Given the description of an element on the screen output the (x, y) to click on. 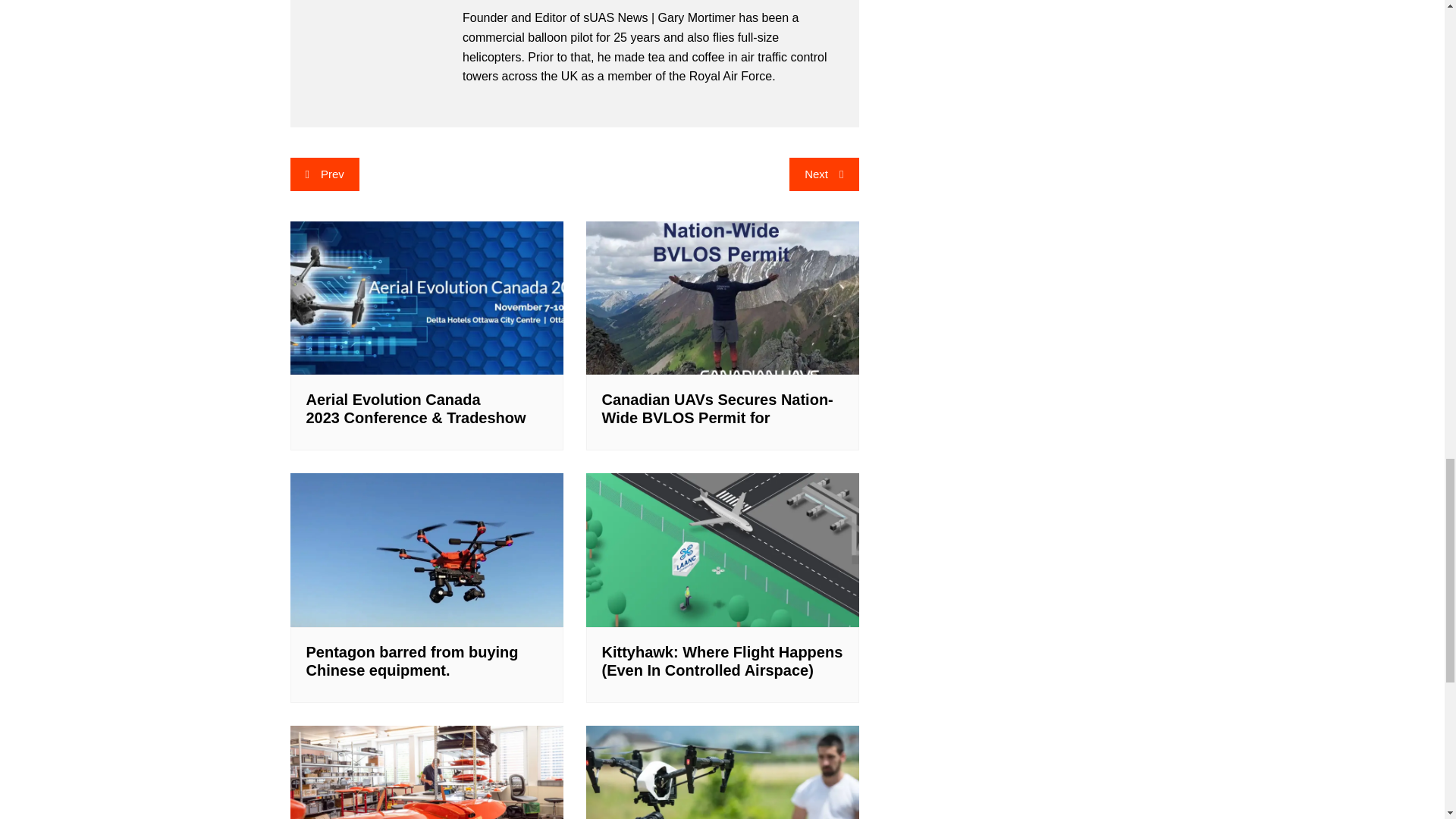
Prev (323, 174)
Pentagon barred from buying Chinese equipment. (411, 660)
Next (824, 174)
Canadian UAVs Secures Nation-Wide BVLOS Permit for (717, 408)
